Given the description of an element on the screen output the (x, y) to click on. 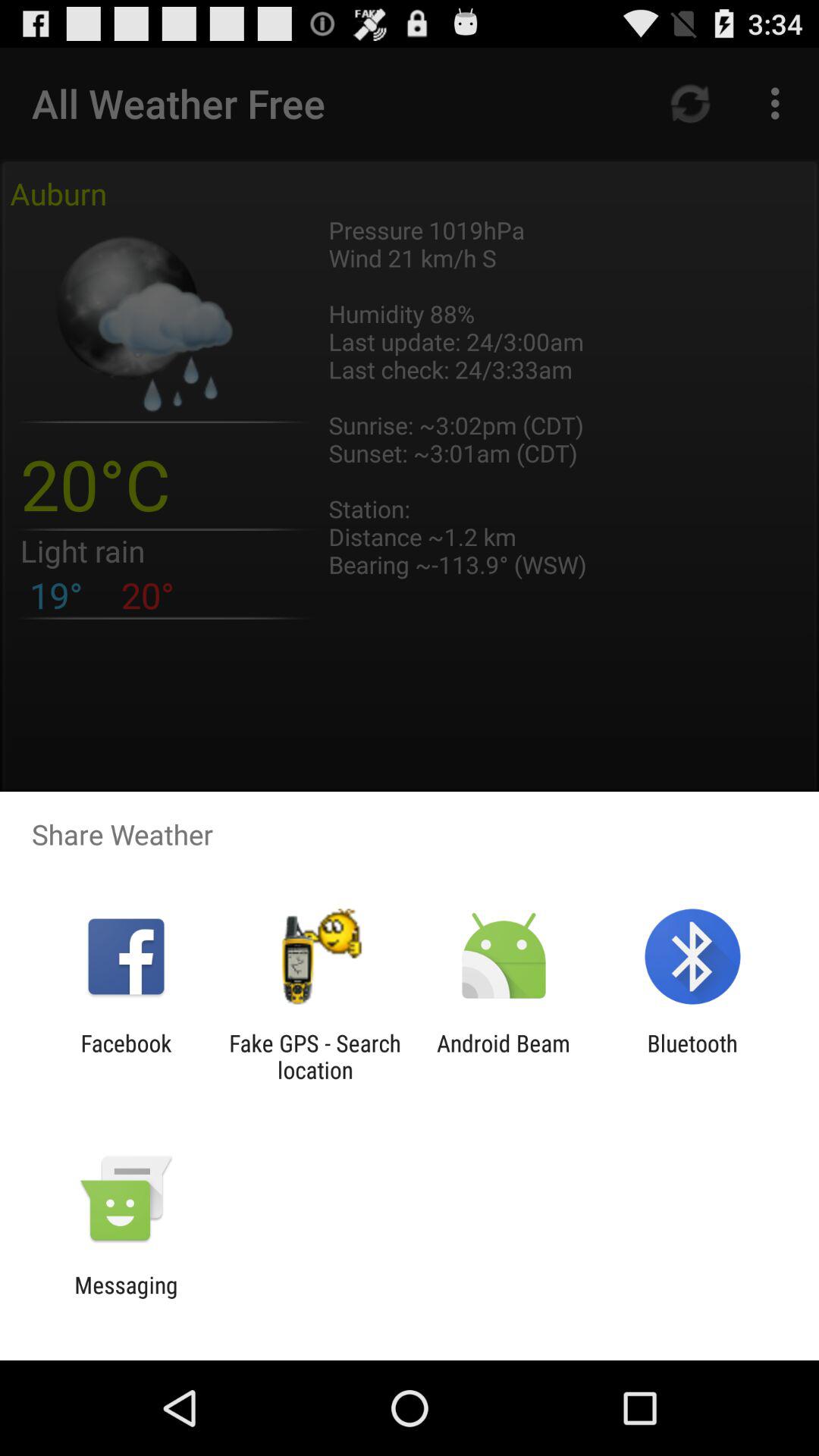
scroll until android beam app (503, 1056)
